Given the description of an element on the screen output the (x, y) to click on. 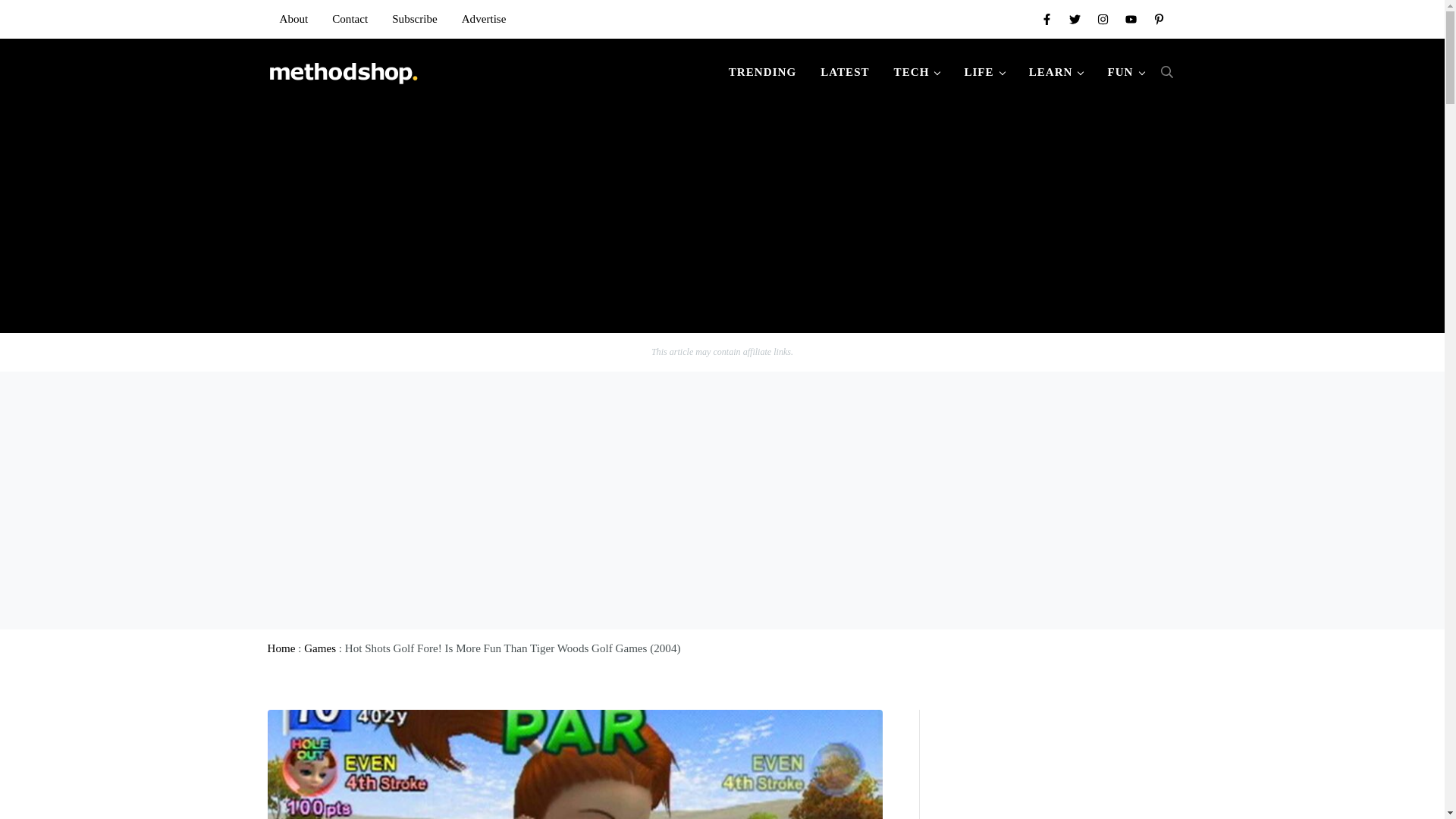
Contact (350, 18)
TECH (917, 71)
LIFE (984, 71)
LEARN (1056, 71)
About (293, 18)
TRENDING (762, 71)
LATEST (844, 71)
Subscribe (414, 18)
Advertise (483, 18)
